Given the description of an element on the screen output the (x, y) to click on. 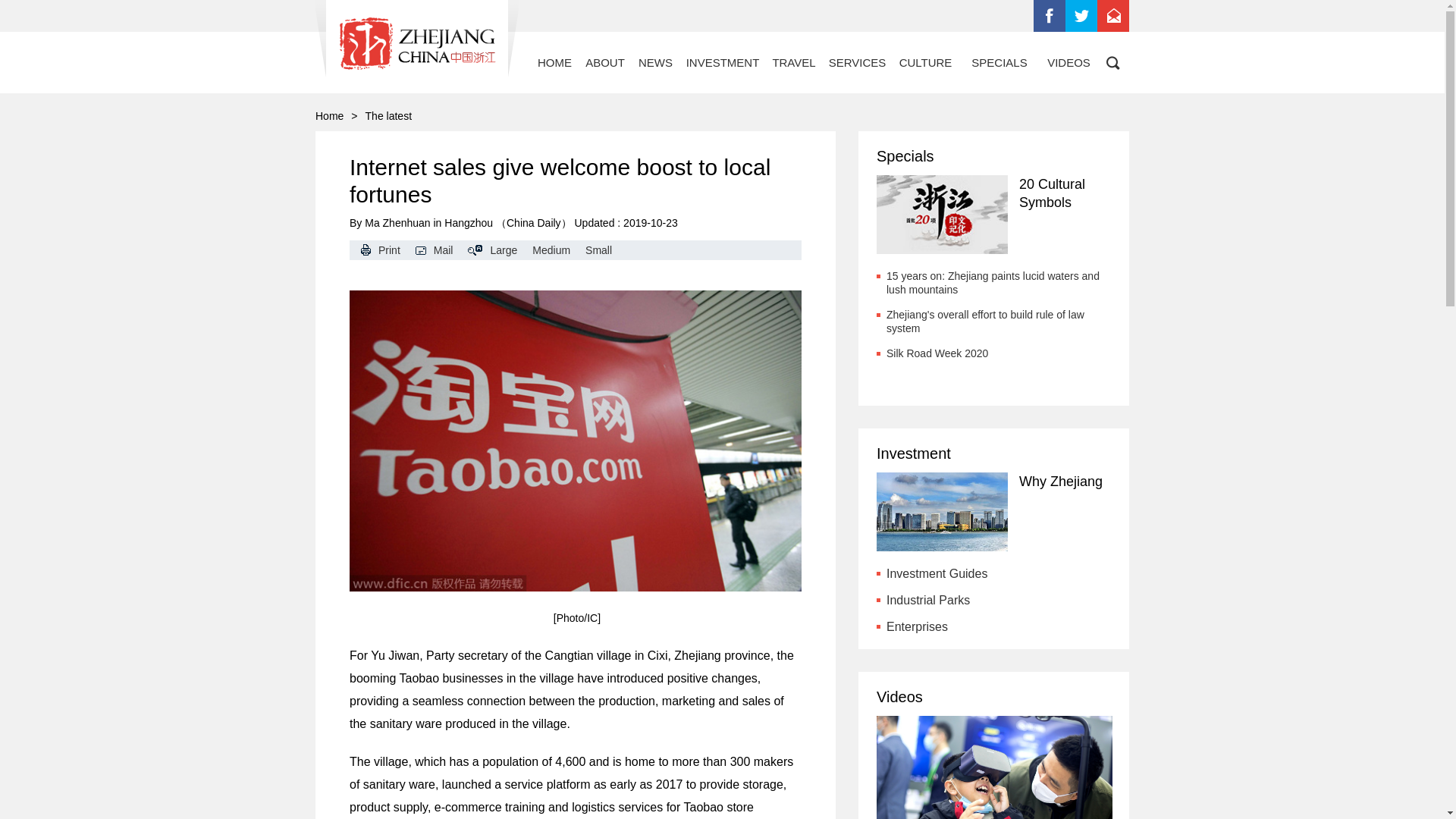
Facebook (1049, 15)
Contact Us (1113, 15)
SERVICES (857, 62)
INVESTMENT (722, 62)
Twitter (1081, 15)
CULTURE (925, 62)
TRAVEL (793, 62)
